Given the description of an element on the screen output the (x, y) to click on. 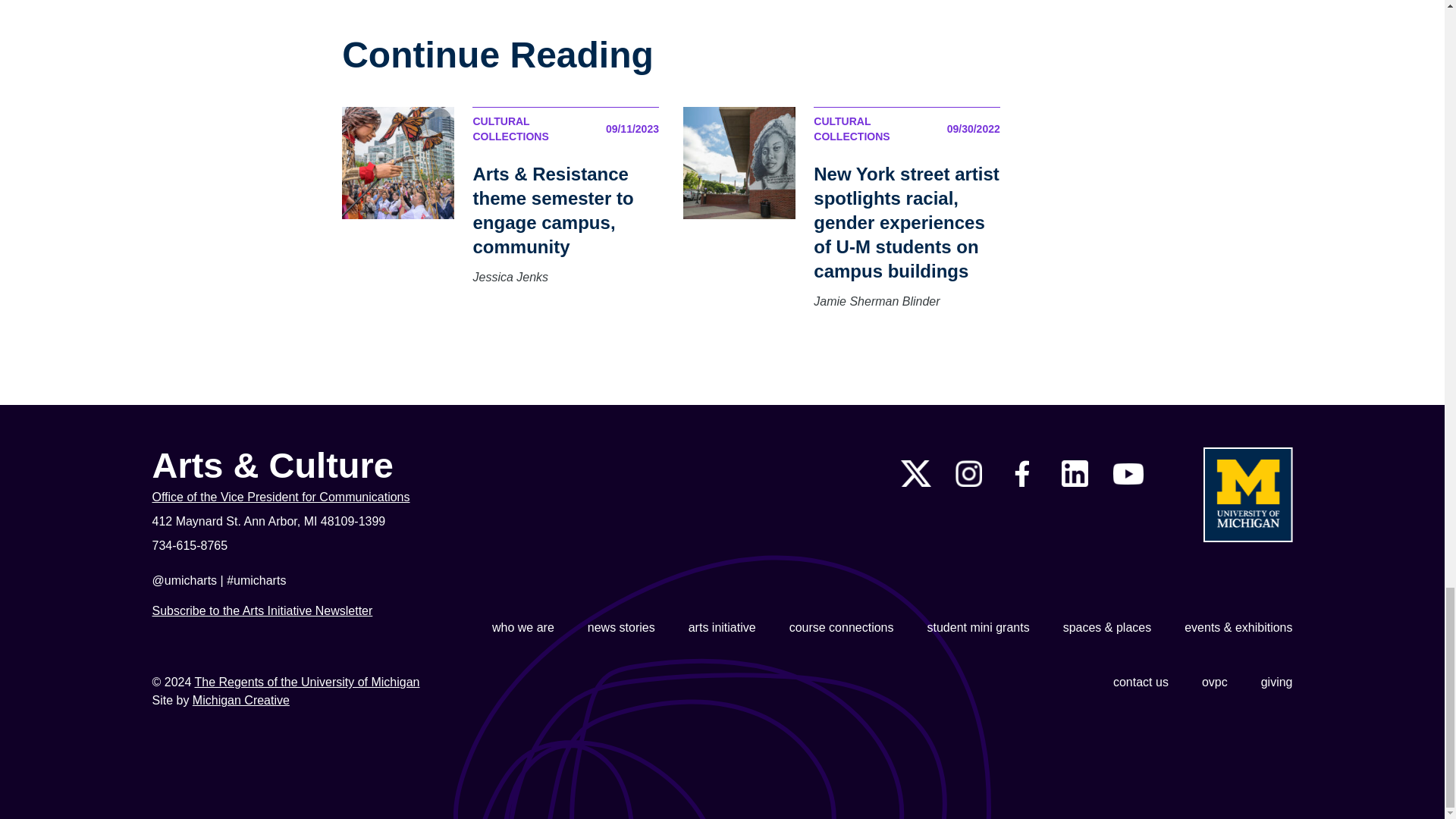
arts initiative (721, 628)
Office of the Vice President for Communications (341, 497)
Instagram (968, 473)
YouTube (1127, 473)
student mini grants (977, 628)
Subscribe to the Arts Initiative Newsletter (261, 610)
course connections (841, 628)
734-615-8765 (341, 546)
who we are (523, 628)
Twitter (916, 473)
news stories (621, 628)
Linkedin (1074, 473)
